Given the description of an element on the screen output the (x, y) to click on. 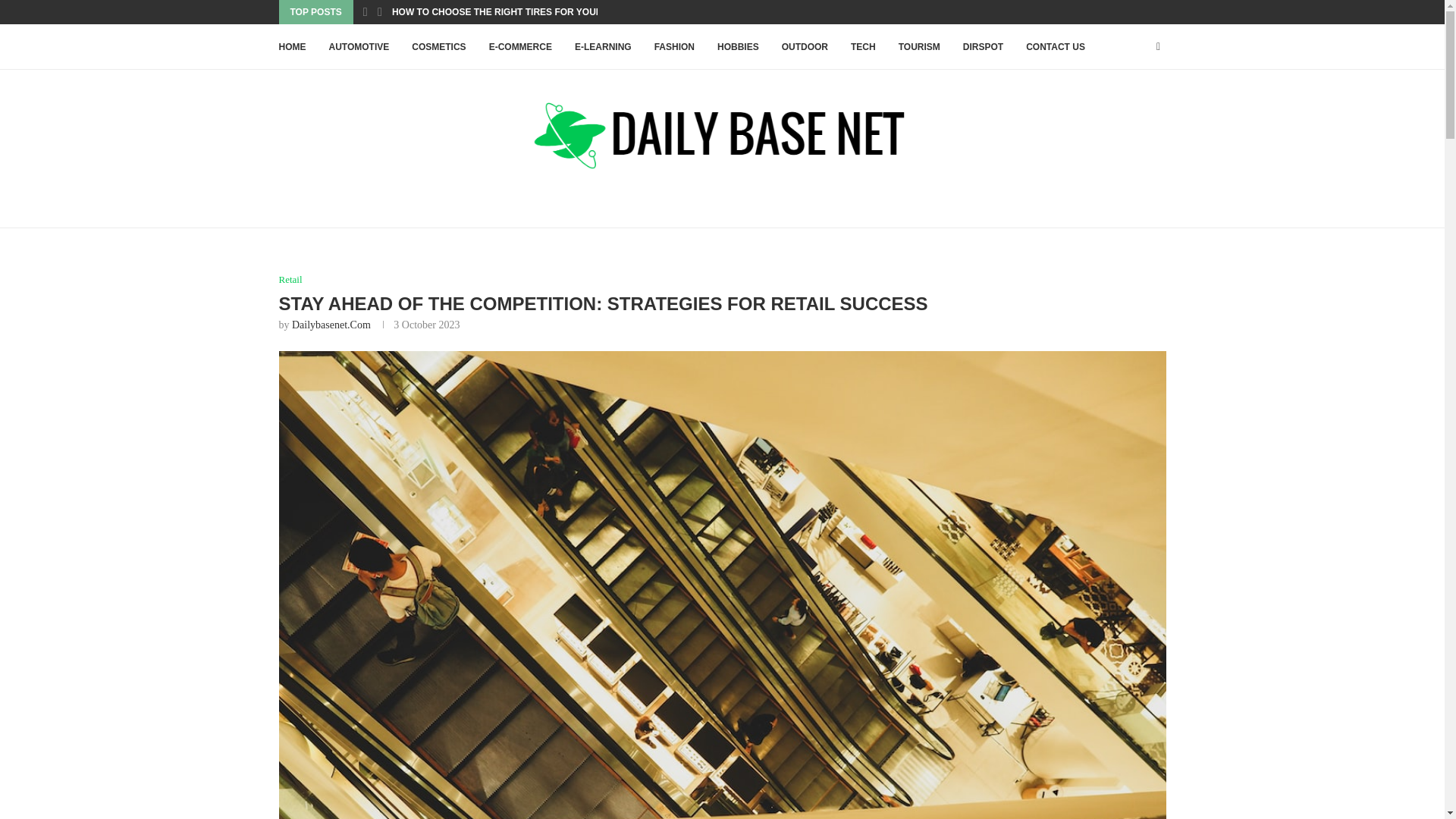
CONTACT US (1055, 46)
DIRSPOT (982, 46)
E-COMMERCE (520, 46)
OUTDOOR (804, 46)
HOBBIES (737, 46)
Retail (290, 279)
HOW TO CHOOSE THE RIGHT TIRES FOR YOUR... (500, 12)
FASHION (673, 46)
AUTOMOTIVE (359, 46)
E-LEARNING (603, 46)
